Given the description of an element on the screen output the (x, y) to click on. 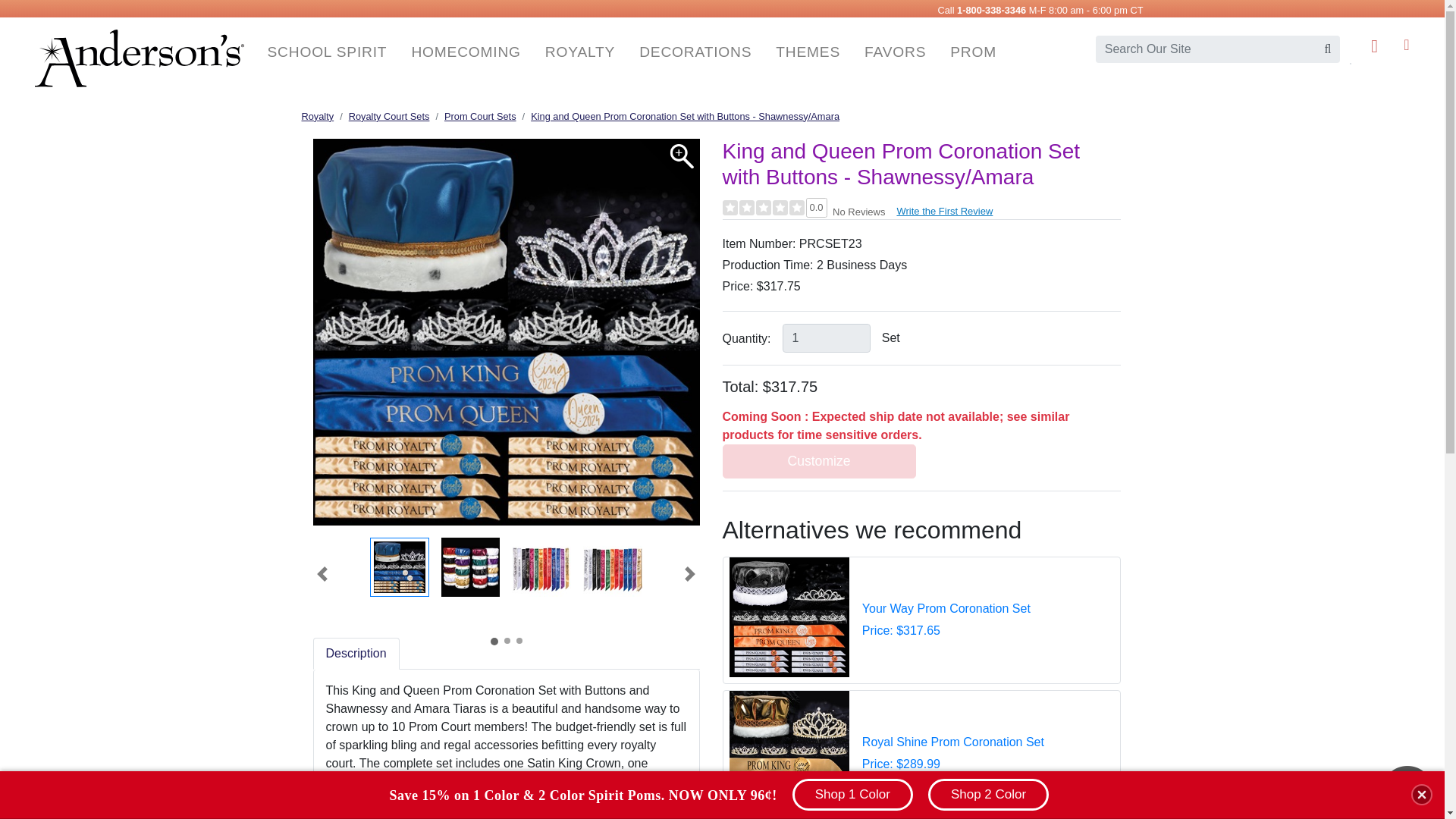
1 (826, 337)
